Given the description of an element on the screen output the (x, y) to click on. 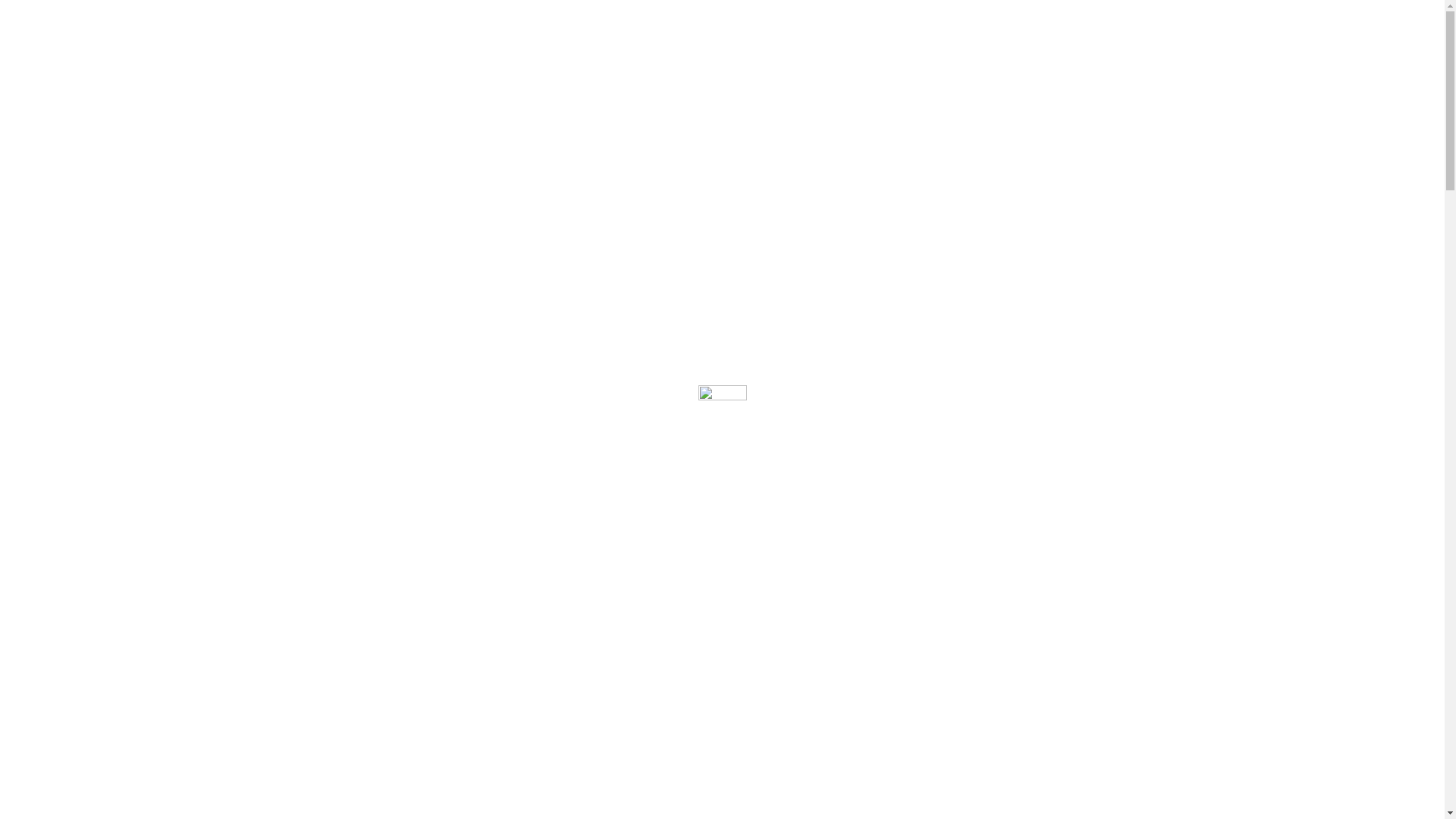
VOORBEELDEN Element type: text (396, 20)
CONTACTEER ONS Element type: text (877, 20)
ONS TEL NR. Element type: text (80, 20)
BRONS & MESSING Element type: text (295, 20)
POSTZEGELS Element type: text (644, 20)
WIE ZIJN WE Element type: text (783, 20)
MUNTEN Element type: text (714, 20)
CONTACTEER ONS Element type: text (650, 250)
MEER WETEN Element type: text (810, 250)
WAAROM VERKOPEN Element type: text (180, 20)
ART DECO EN ART NOUVEAU Element type: text (522, 20)
